Given the description of an element on the screen output the (x, y) to click on. 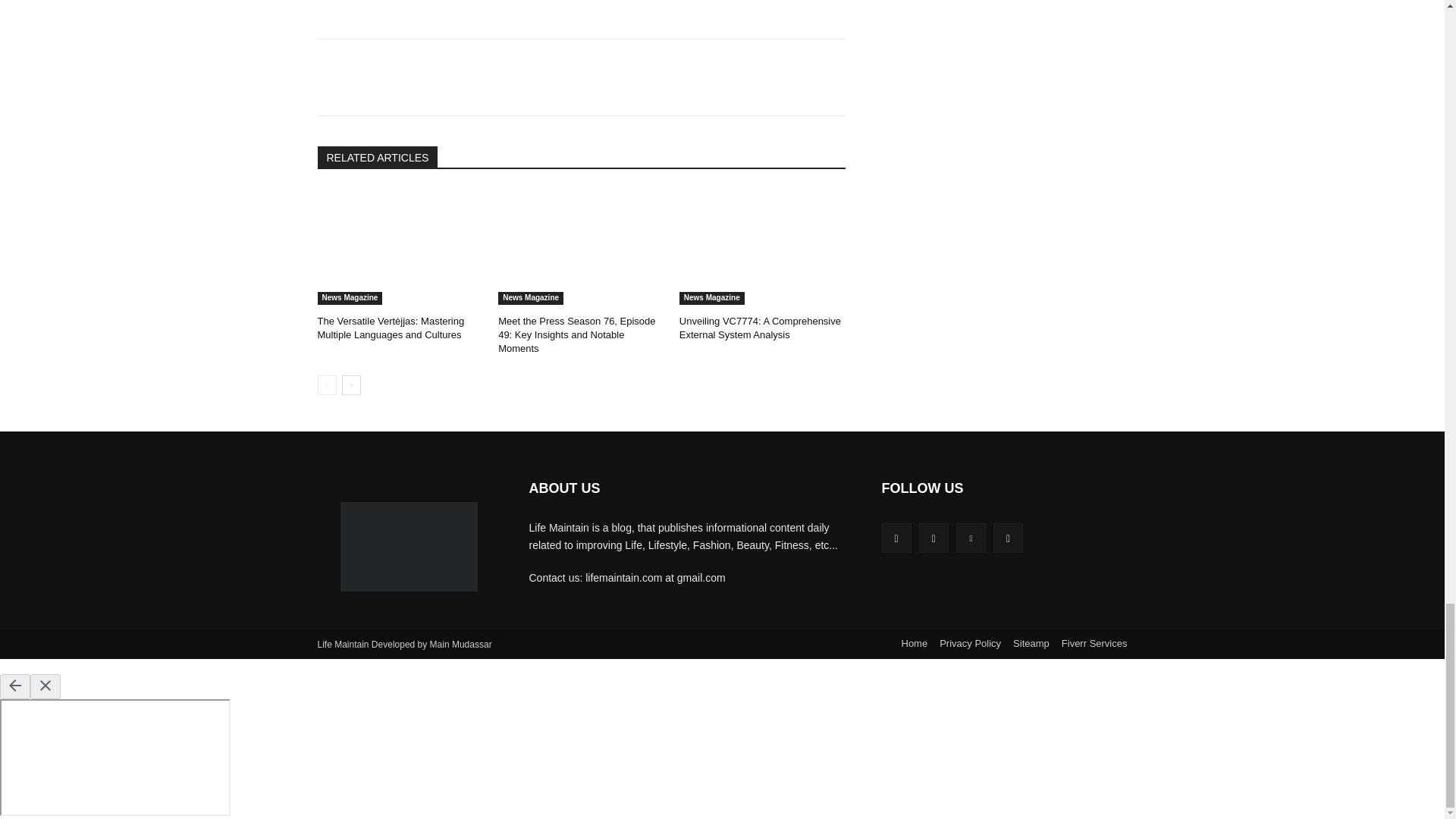
News Magazine (711, 297)
News Magazine (349, 297)
News Magazine (530, 297)
